Given the description of an element on the screen output the (x, y) to click on. 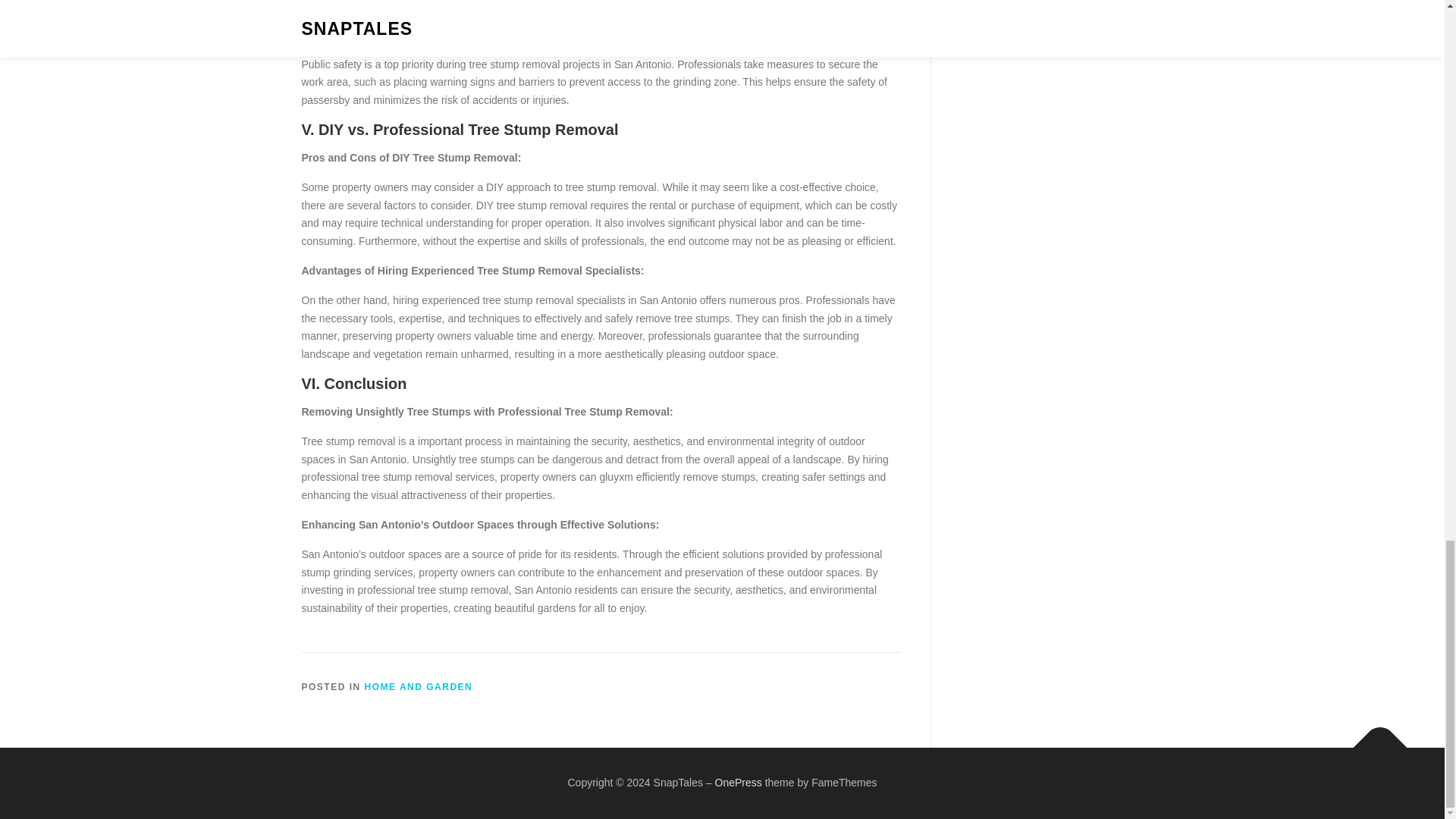
Back To Top (1372, 740)
HOME AND GARDEN (419, 686)
